Given the description of an element on the screen output the (x, y) to click on. 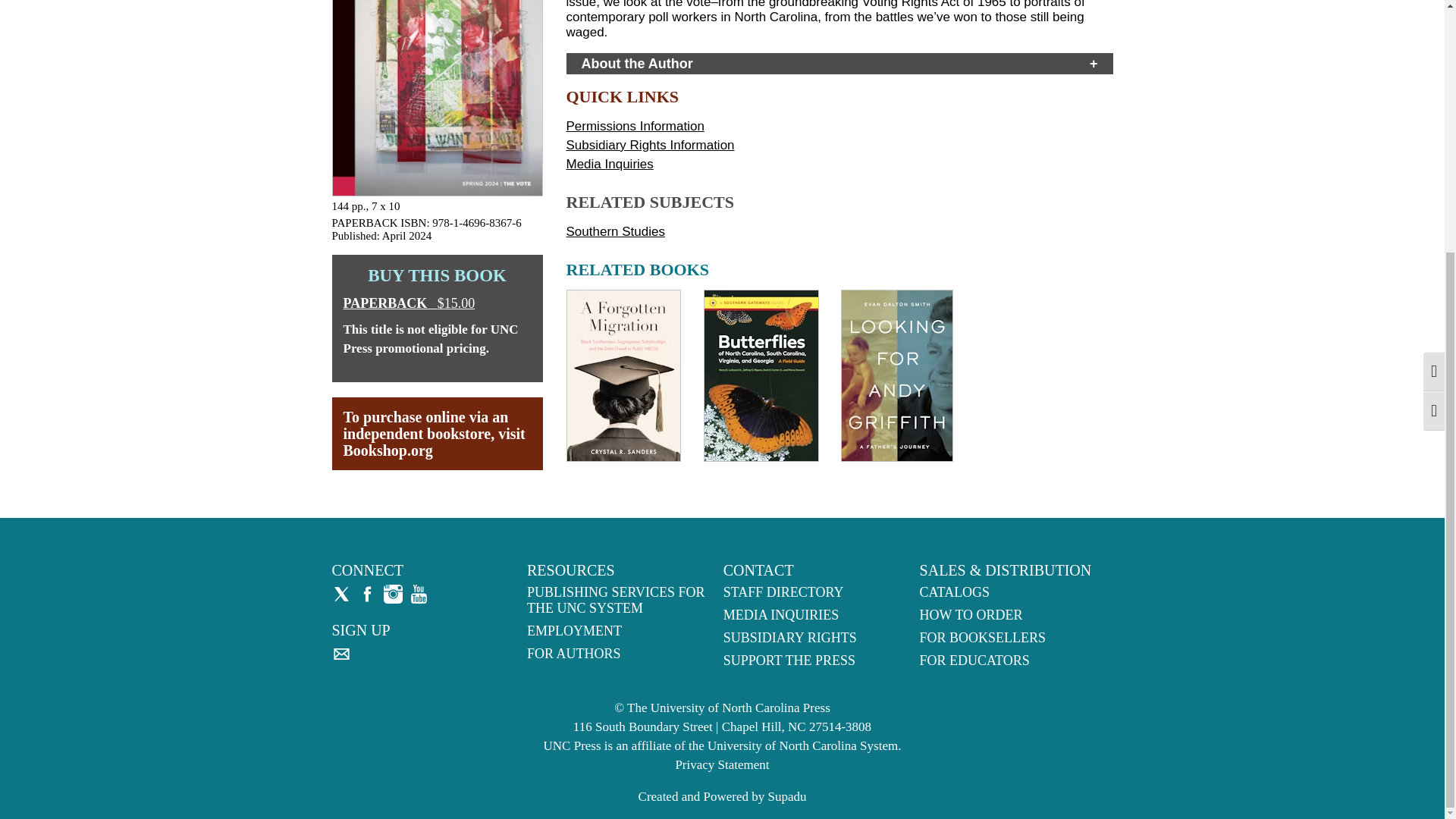
Southern Studies (614, 231)
Permissions Information (634, 125)
Media Inquiries (609, 164)
Subsidiary Rights Information (649, 145)
